Given the description of an element on the screen output the (x, y) to click on. 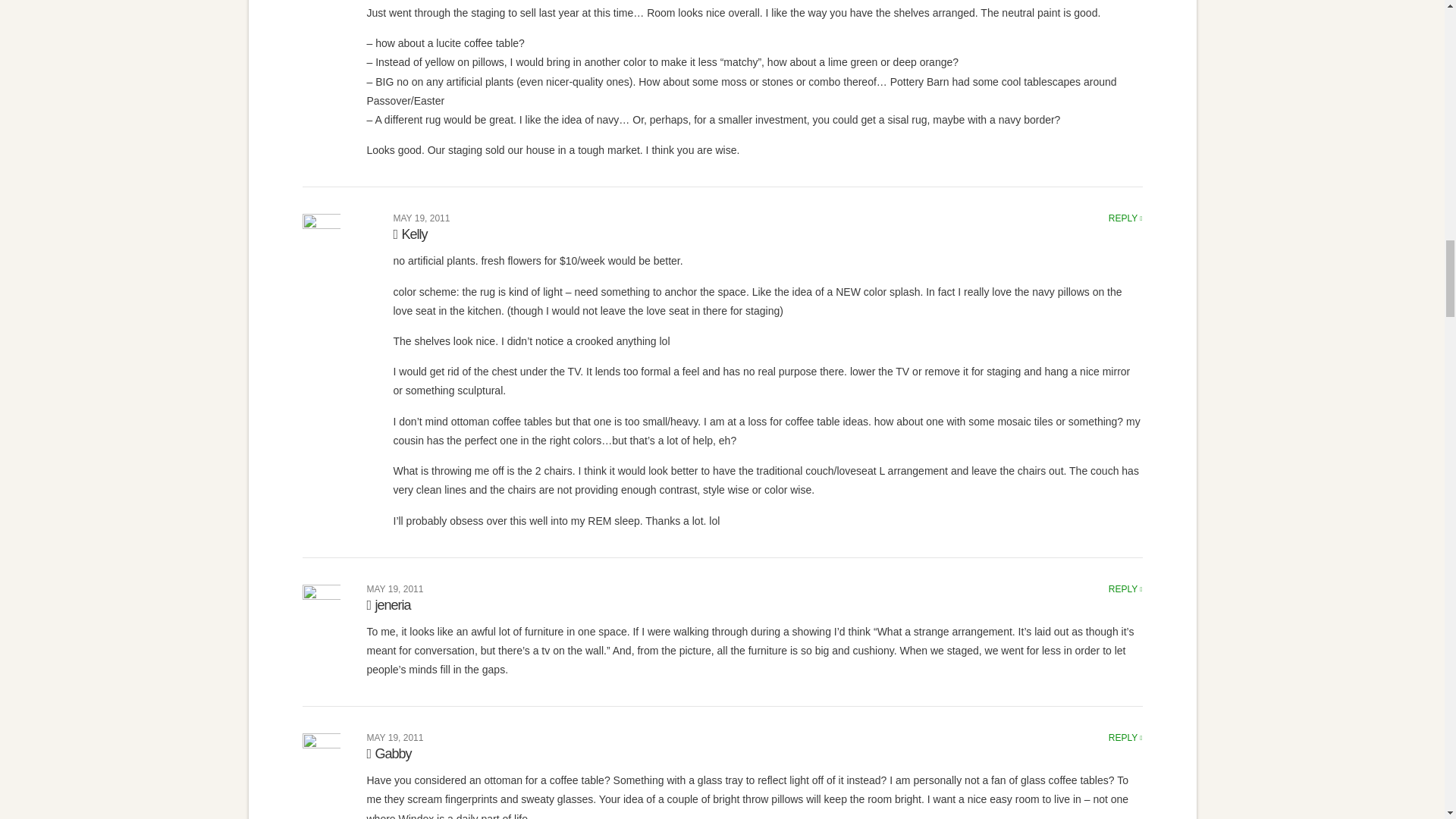
MAY 19, 2011 (421, 217)
REPLY (1125, 588)
MAY 19, 2011 (394, 588)
MAY 19, 2011 (394, 737)
REPLY (1125, 737)
REPLY (1125, 217)
